Given the description of an element on the screen output the (x, y) to click on. 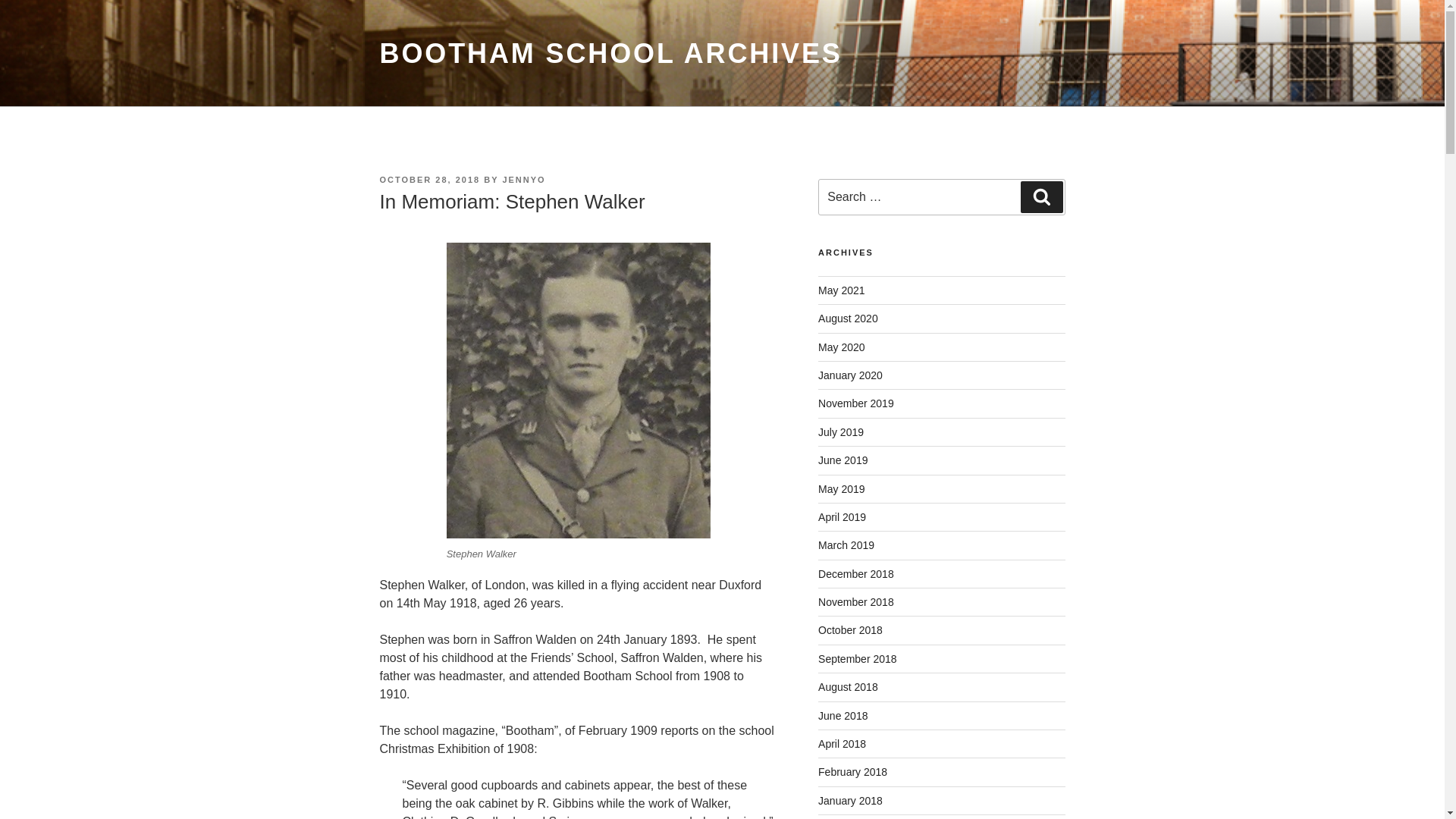
November 2018 (855, 602)
January 2018 (850, 800)
JENNYO (523, 179)
May 2020 (841, 346)
June 2019 (842, 460)
February 2018 (852, 771)
July 2019 (840, 431)
BOOTHAM SCHOOL ARCHIVES (609, 52)
May 2021 (841, 290)
September 2018 (857, 658)
